Given the description of an element on the screen output the (x, y) to click on. 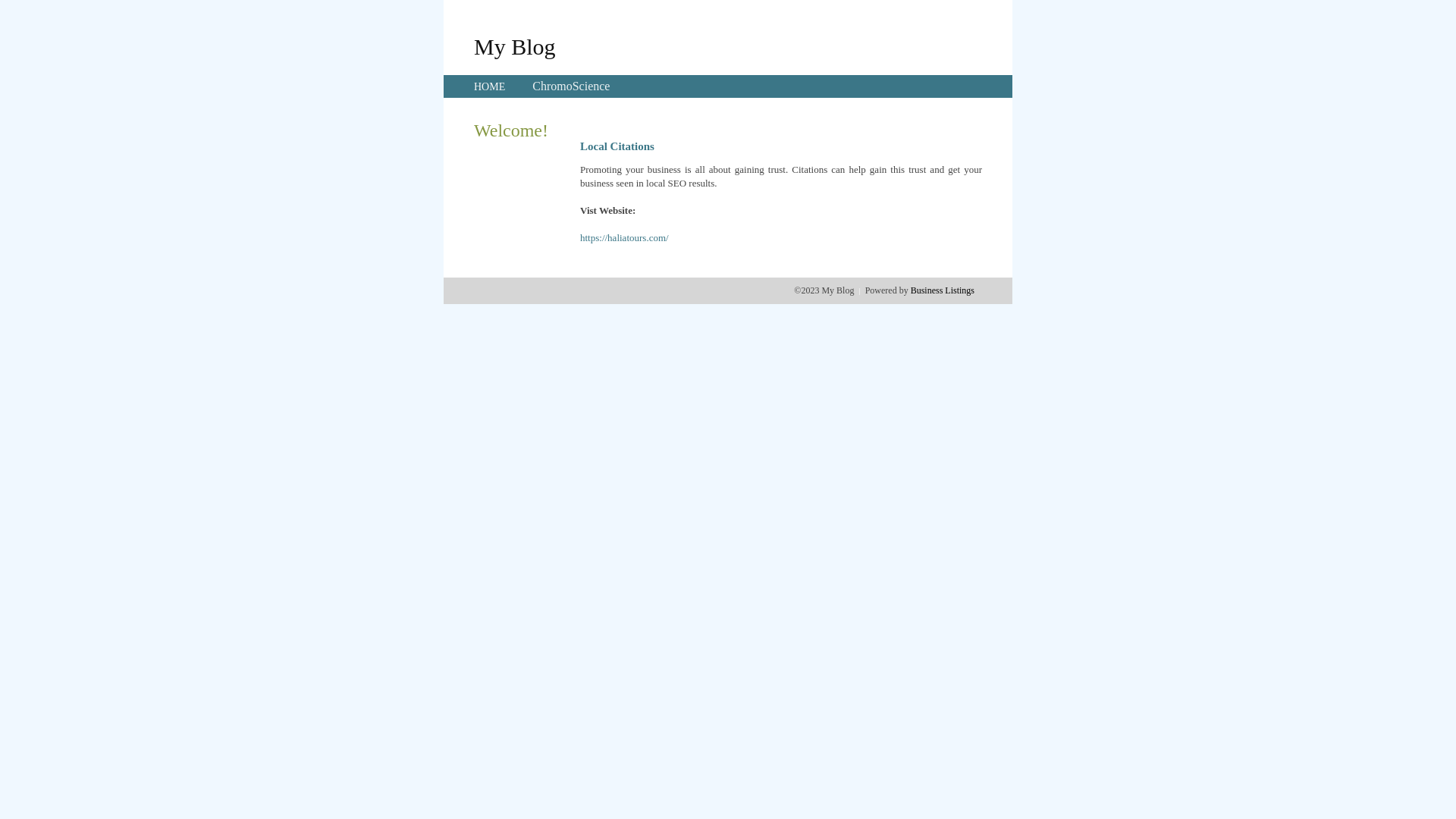
https://haliatours.com/ Element type: text (624, 237)
ChromoScience Element type: text (570, 85)
My Blog Element type: text (514, 46)
HOME Element type: text (489, 86)
Business Listings Element type: text (942, 290)
